Given the description of an element on the screen output the (x, y) to click on. 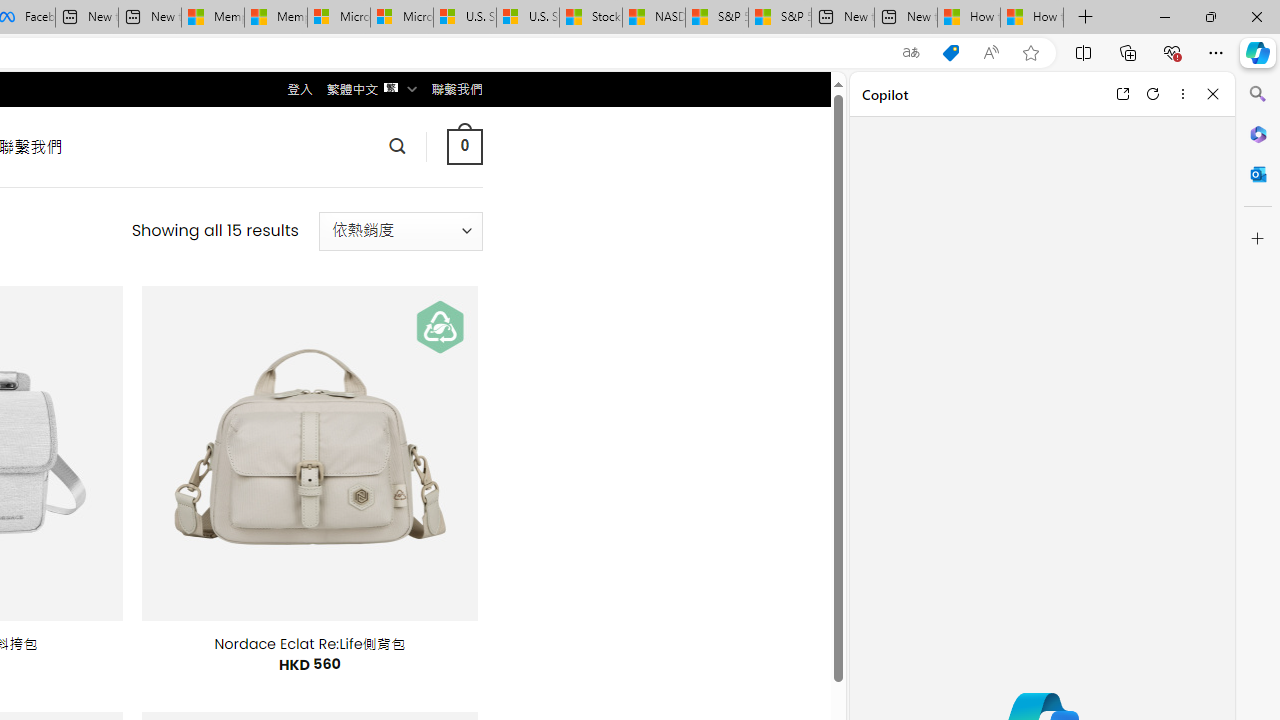
Read aloud this page (Ctrl+Shift+U) (991, 53)
This site has coupons! Shopping in Microsoft Edge (950, 53)
Minimize (1164, 16)
Open link in new tab (1122, 93)
Search (1258, 94)
Restore (1210, 16)
New tab (905, 17)
